Given the description of an element on the screen output the (x, y) to click on. 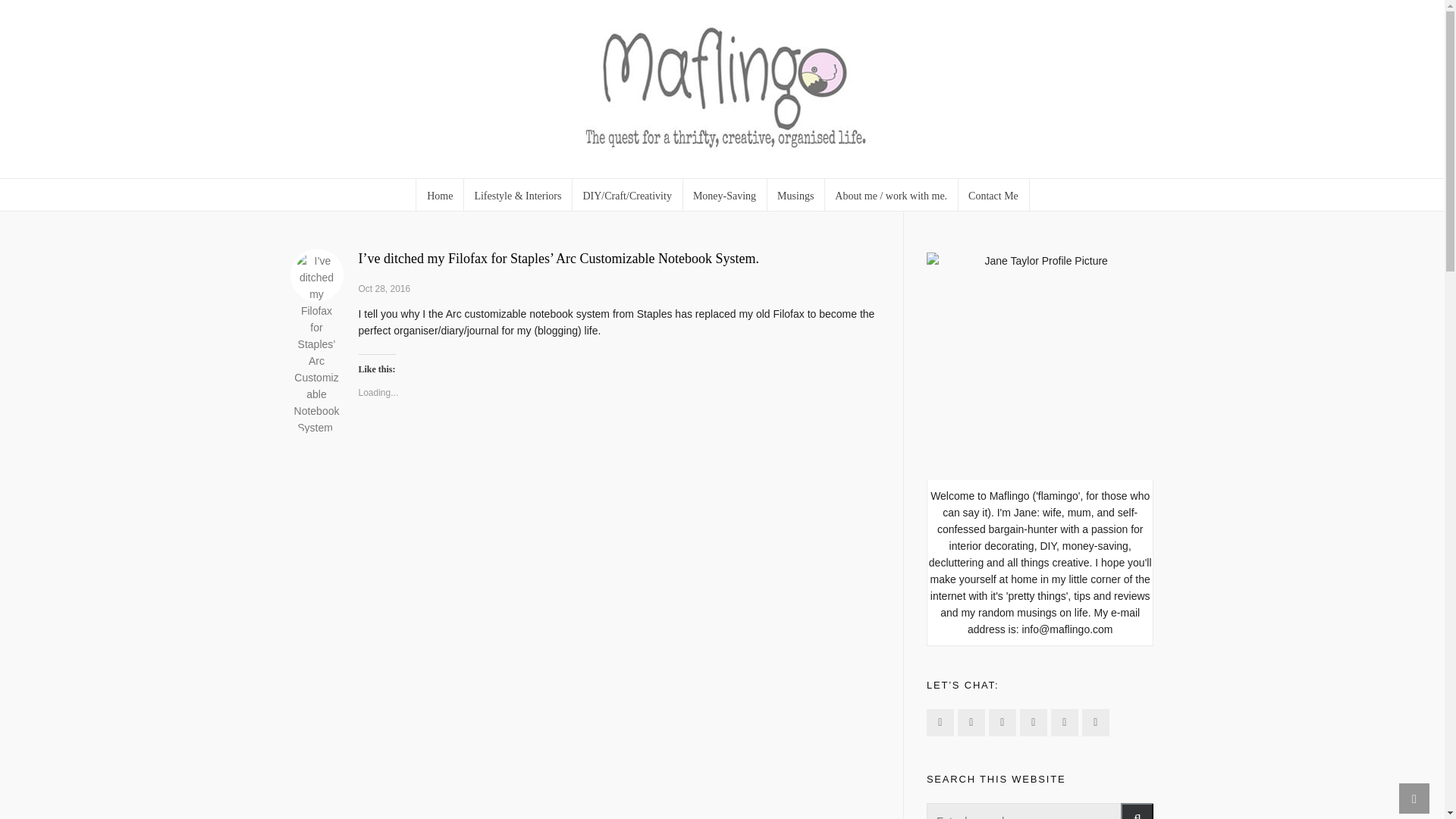
Home (439, 194)
Jane Taylor Profile Picture (1040, 365)
Contact Me (993, 194)
Money-Saving (724, 194)
Musings (796, 194)
